Given the description of an element on the screen output the (x, y) to click on. 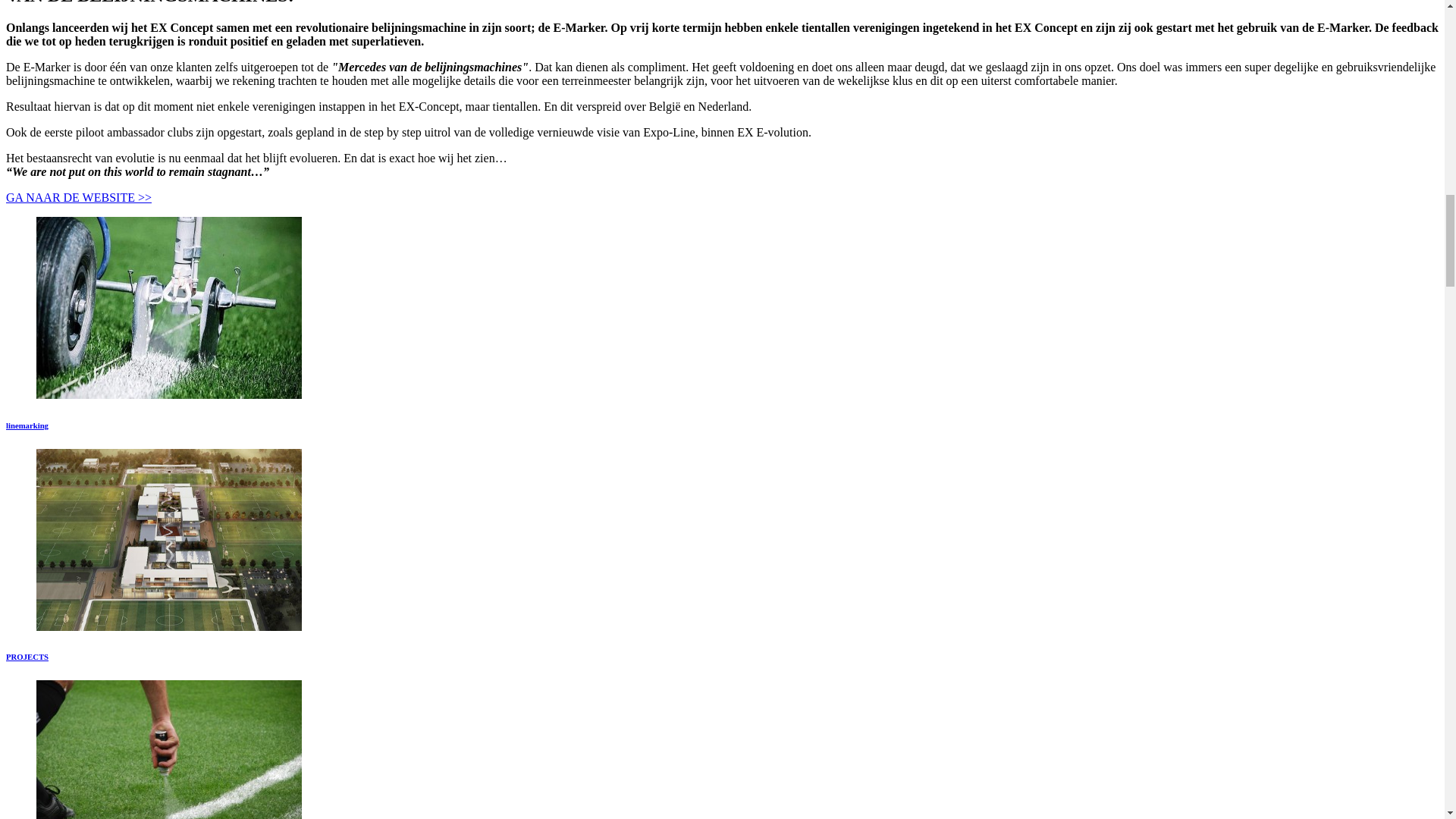
linemarking (26, 424)
PROJECTS (26, 655)
